Given the description of an element on the screen output the (x, y) to click on. 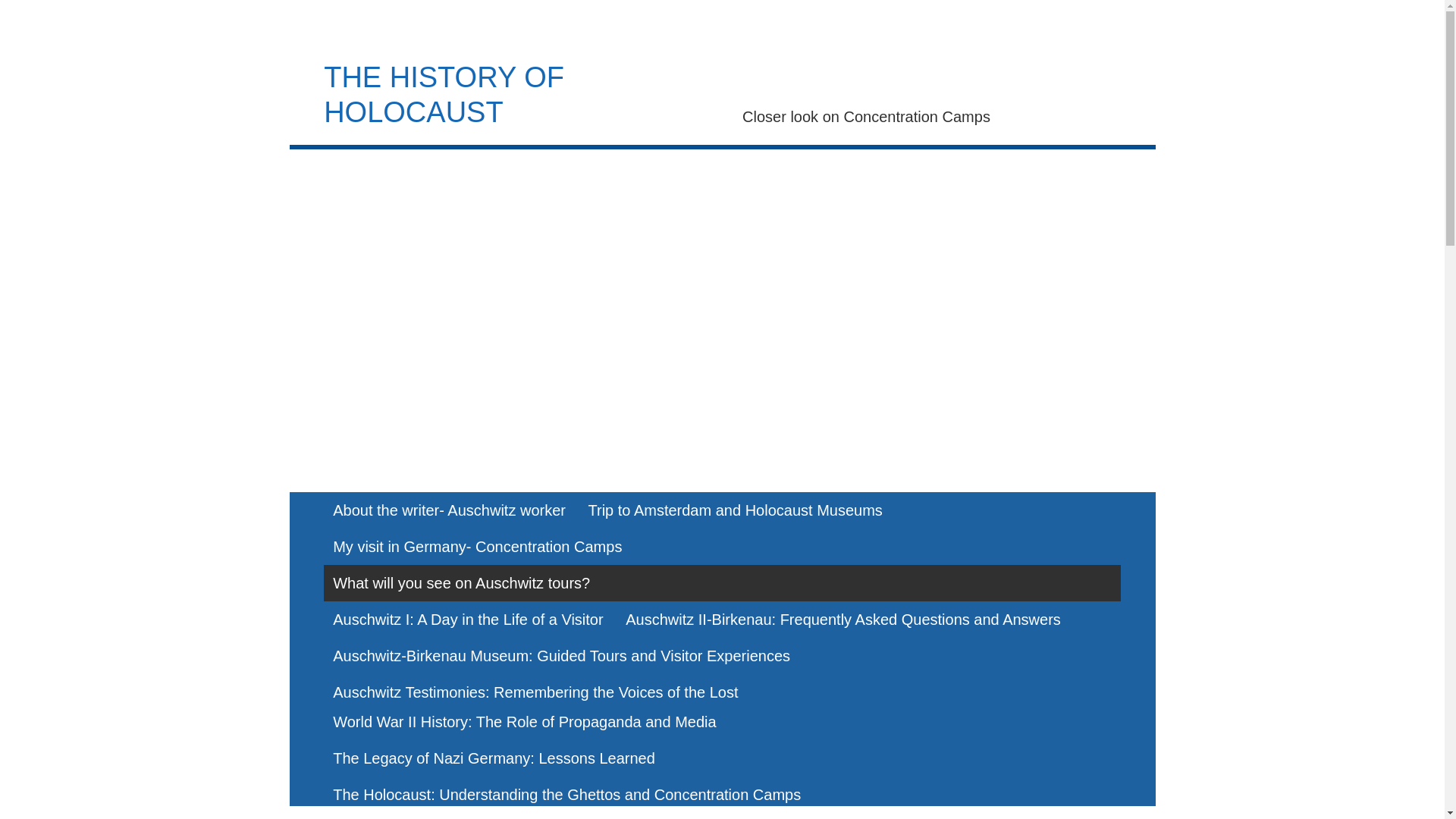
What will you see on Auschwitz tours? (460, 583)
The Legacy of Nazi Germany: Lessons Learned (493, 758)
THE HISTORY OF HOLOCAUST (443, 94)
Trip to Amsterdam and Holocaust Museums (735, 510)
About the writer- Auschwitz worker (449, 510)
My visit in Germany- Concentration Camps (476, 546)
